Given the description of an element on the screen output the (x, y) to click on. 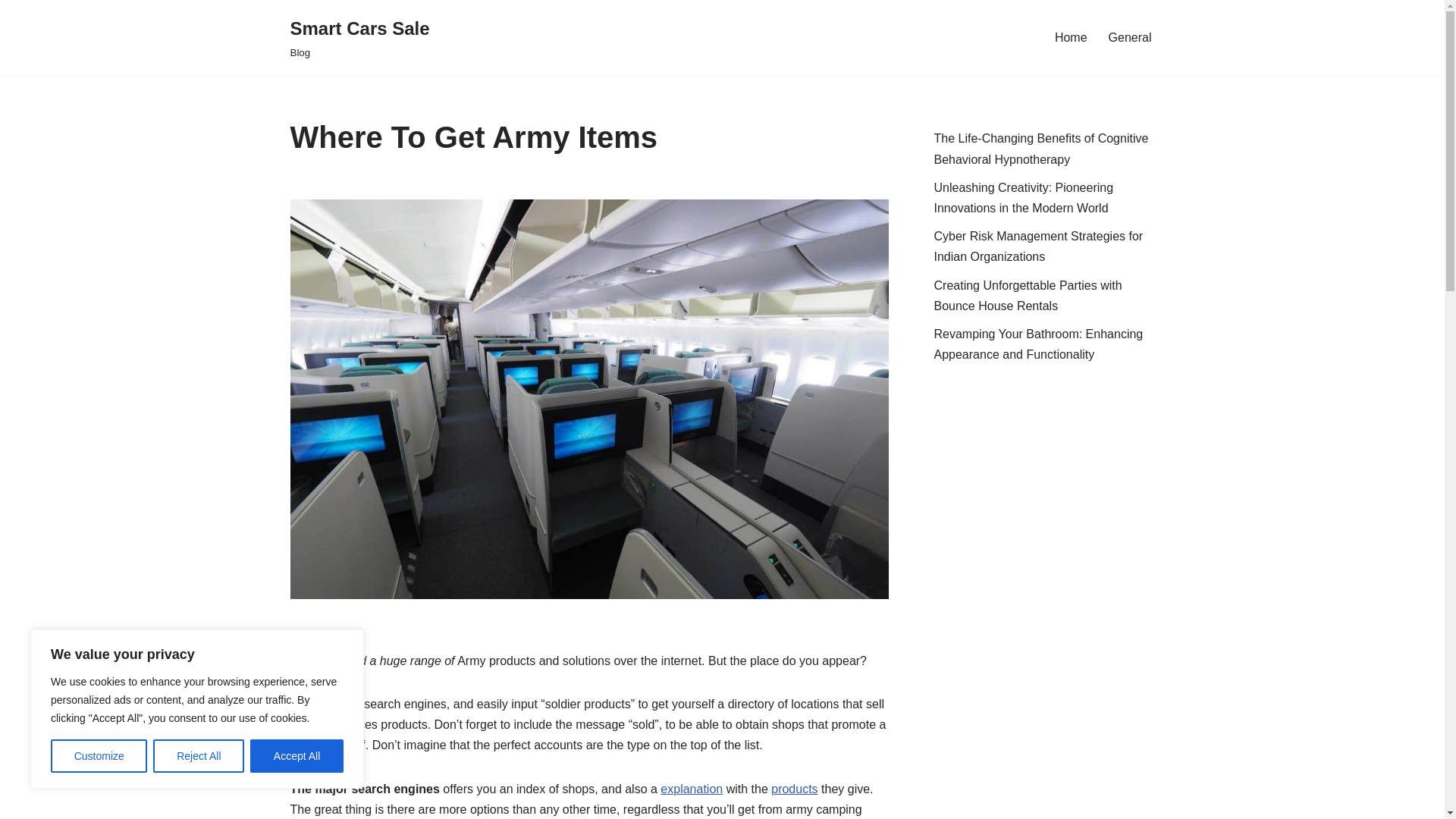
Customize (98, 756)
Reject All (198, 756)
Cyber Risk Management Strategies for Indian Organizations (359, 37)
Home (1038, 246)
Accept All (1070, 37)
explanation (296, 756)
Creating Unforgettable Parties with Bounce House Rentals (691, 788)
